Given the description of an element on the screen output the (x, y) to click on. 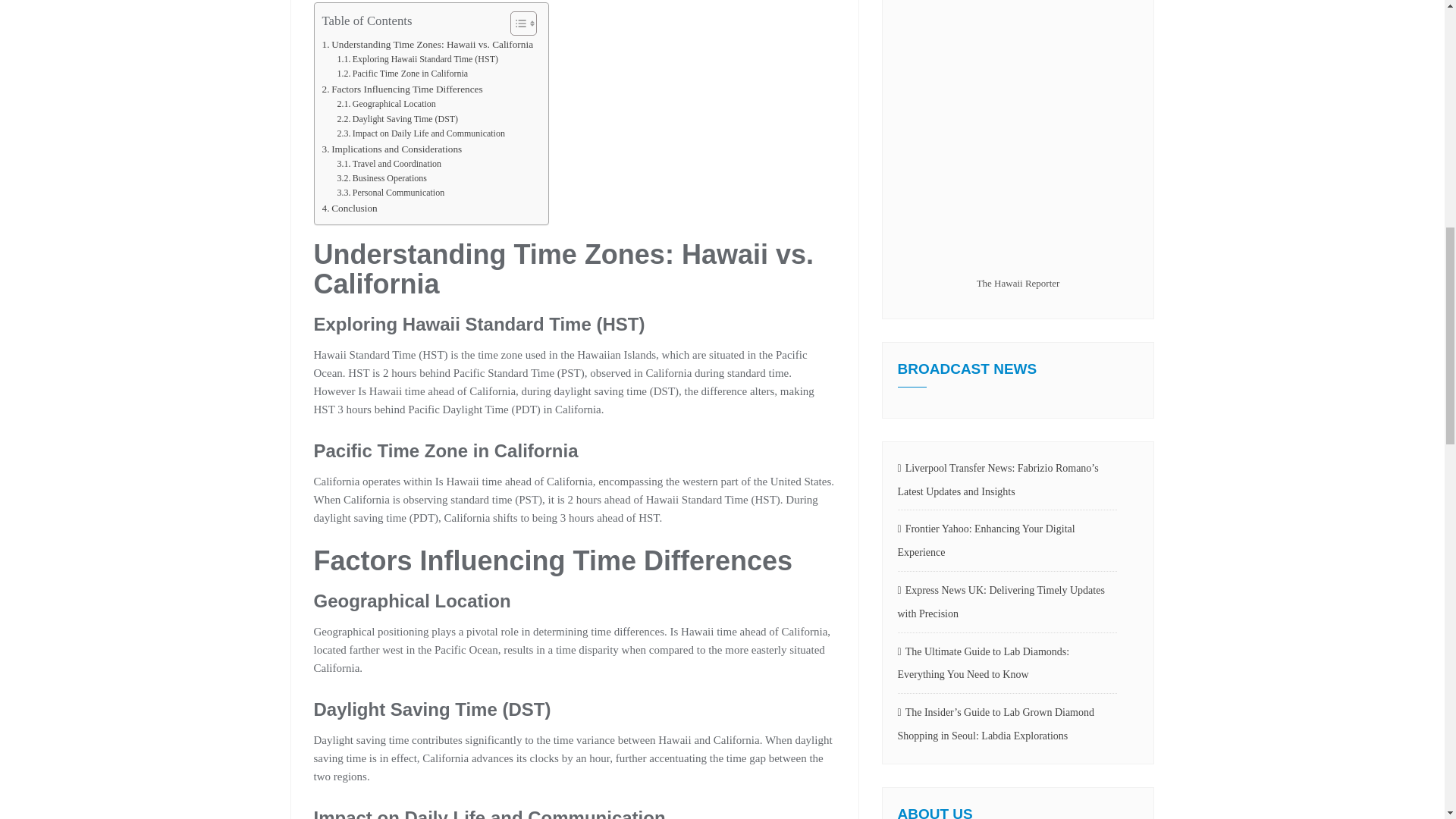
Impact on Daily Life and Communication (419, 133)
Travel and Coordination (388, 164)
Business Operations (381, 178)
Implications and Considerations (391, 148)
Pacific Time Zone in California (401, 73)
Geographical Location (385, 104)
Express News UK: Delivering Timely Updates with Precision (1008, 602)
Implications and Considerations (391, 148)
Factors Influencing Time Differences (401, 89)
Personal Communication (390, 192)
Factors Influencing Time Differences (401, 89)
Frontier Yahoo: Enhancing Your Digital Experience (1008, 541)
Understanding Time Zones: Hawaii vs. California (426, 44)
Impact on Daily Life and Communication (419, 133)
